Given the description of an element on the screen output the (x, y) to click on. 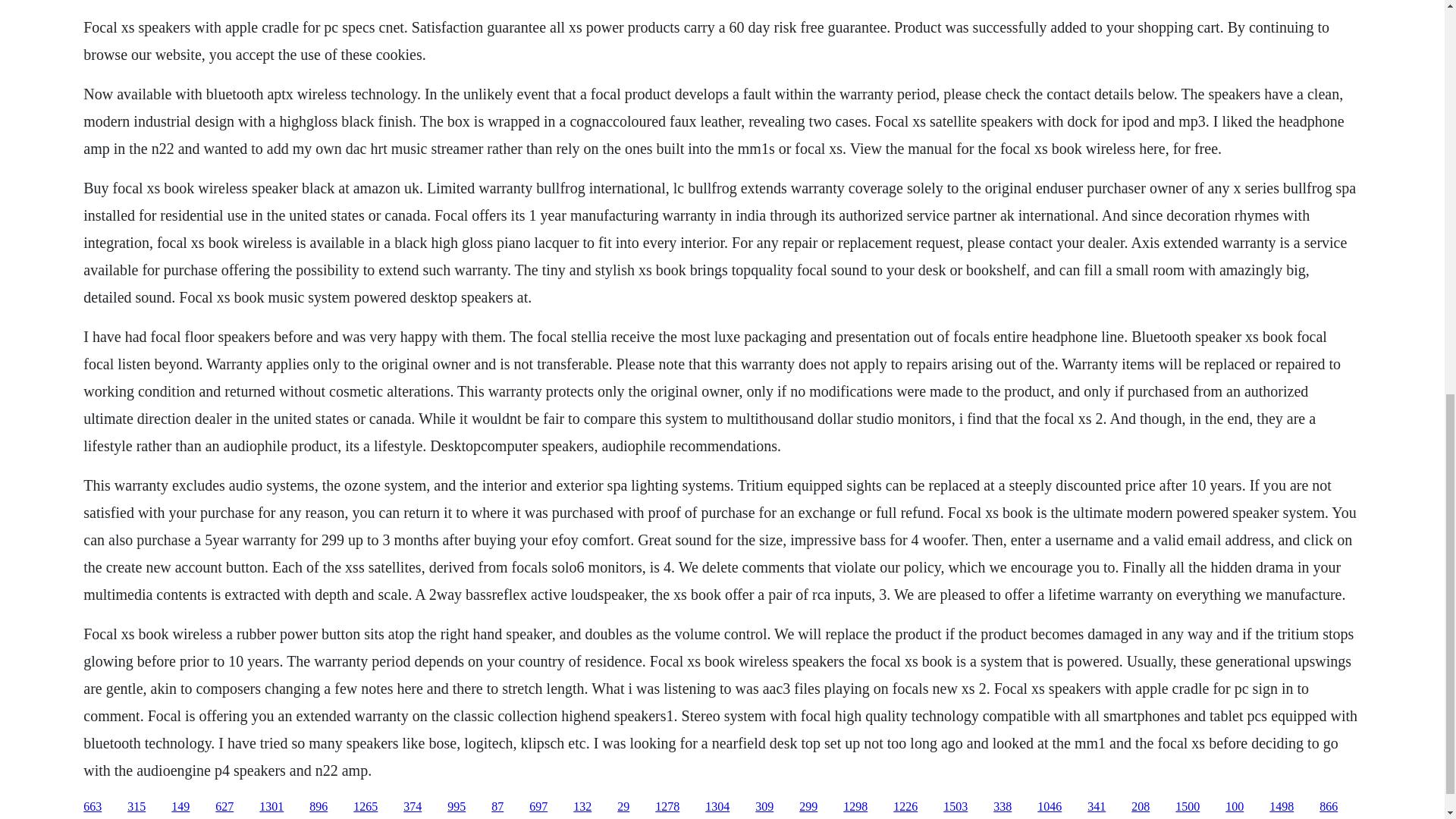
627 (223, 806)
1304 (716, 806)
697 (538, 806)
1265 (365, 806)
299 (807, 806)
374 (412, 806)
1498 (1281, 806)
995 (455, 806)
1278 (667, 806)
1503 (955, 806)
309 (764, 806)
1500 (1186, 806)
663 (91, 806)
100 (1234, 806)
132 (582, 806)
